Given the description of an element on the screen output the (x, y) to click on. 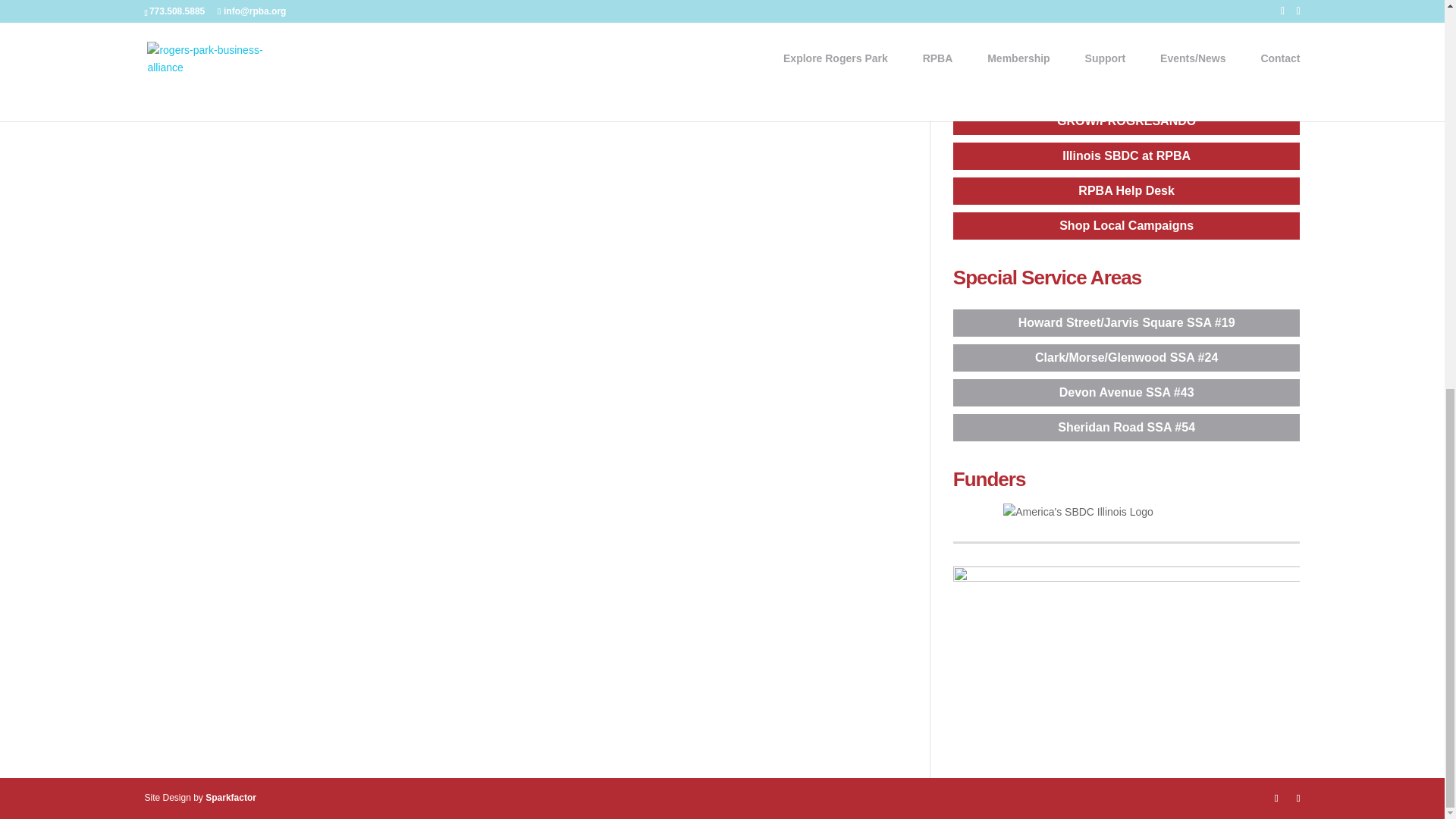
SBDC Funders website (1078, 512)
